Given the description of an element on the screen output the (x, y) to click on. 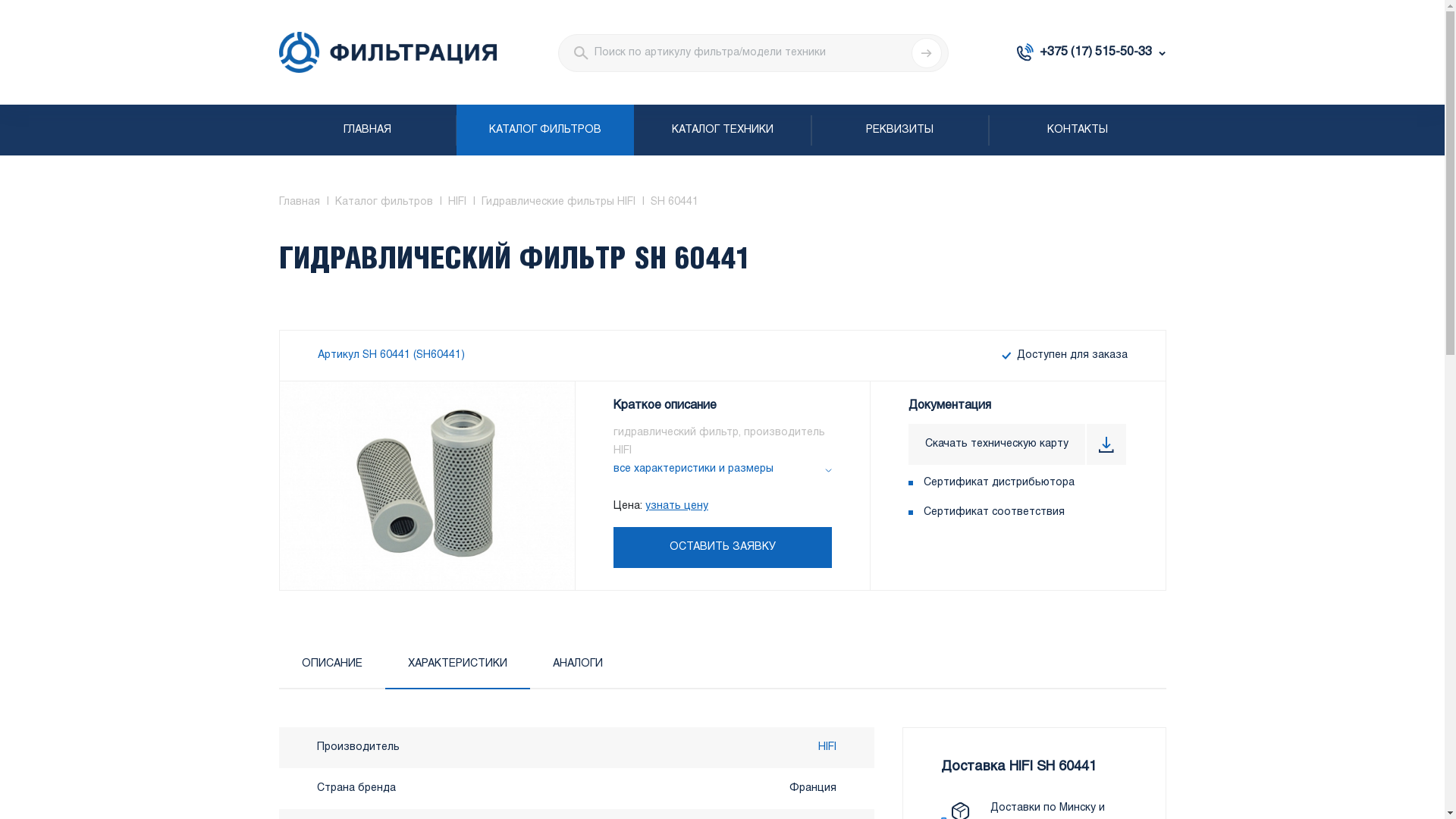
+375 (17) 515-50-33 Element type: text (1090, 52)
HIFI Element type: text (826, 747)
HIFI Element type: text (456, 202)
